Given the description of an element on the screen output the (x, y) to click on. 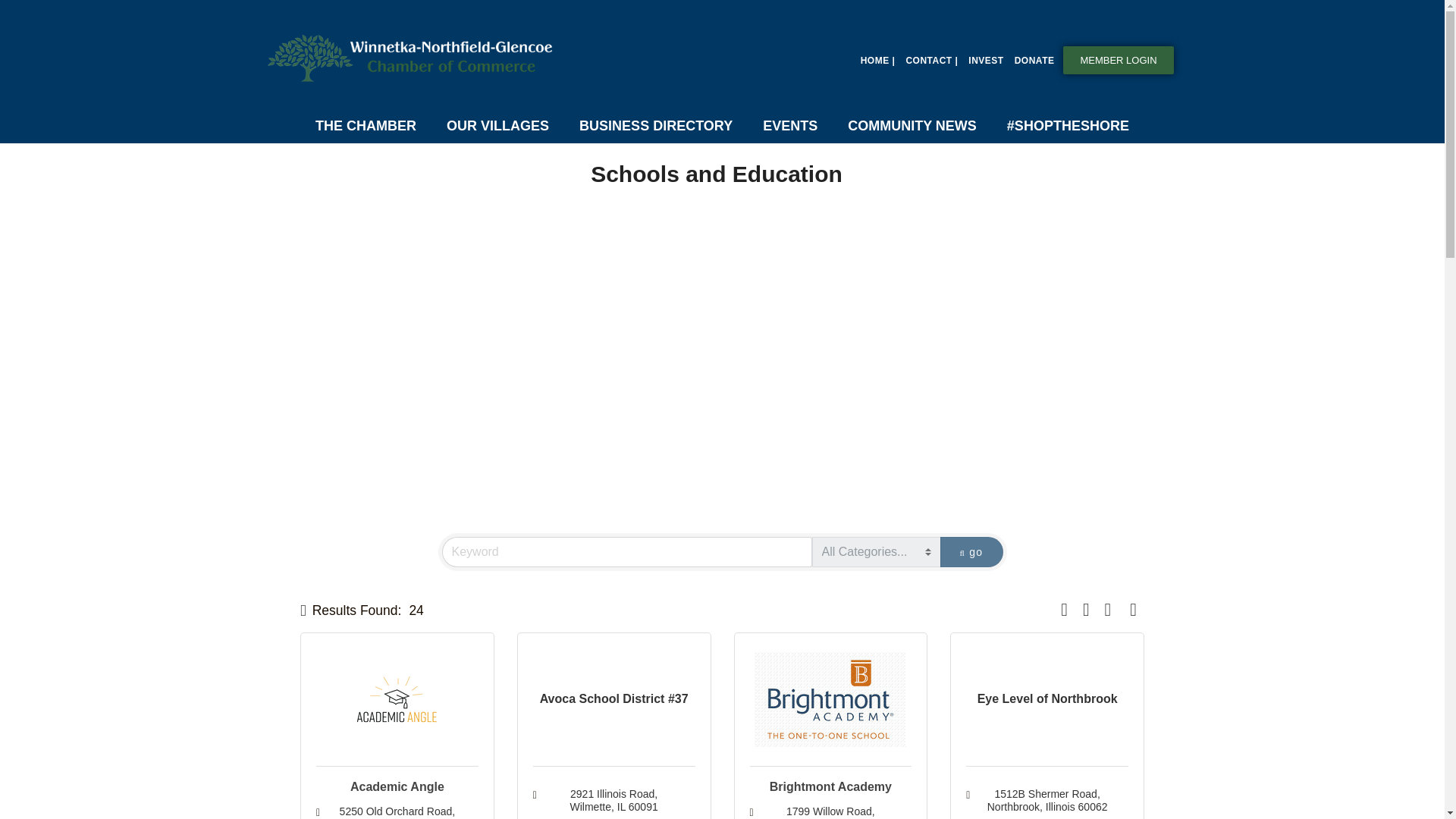
DONATE (1034, 60)
OUR VILLAGES (497, 125)
Winnetka-Northfield-Glencoe Chamber of Commerce (413, 57)
EVENTS (790, 125)
THE CHAMBER (364, 125)
INVEST (985, 60)
MEMBER LOGIN (1117, 59)
BUSINESS DIRECTORY (656, 125)
